Given the description of an element on the screen output the (x, y) to click on. 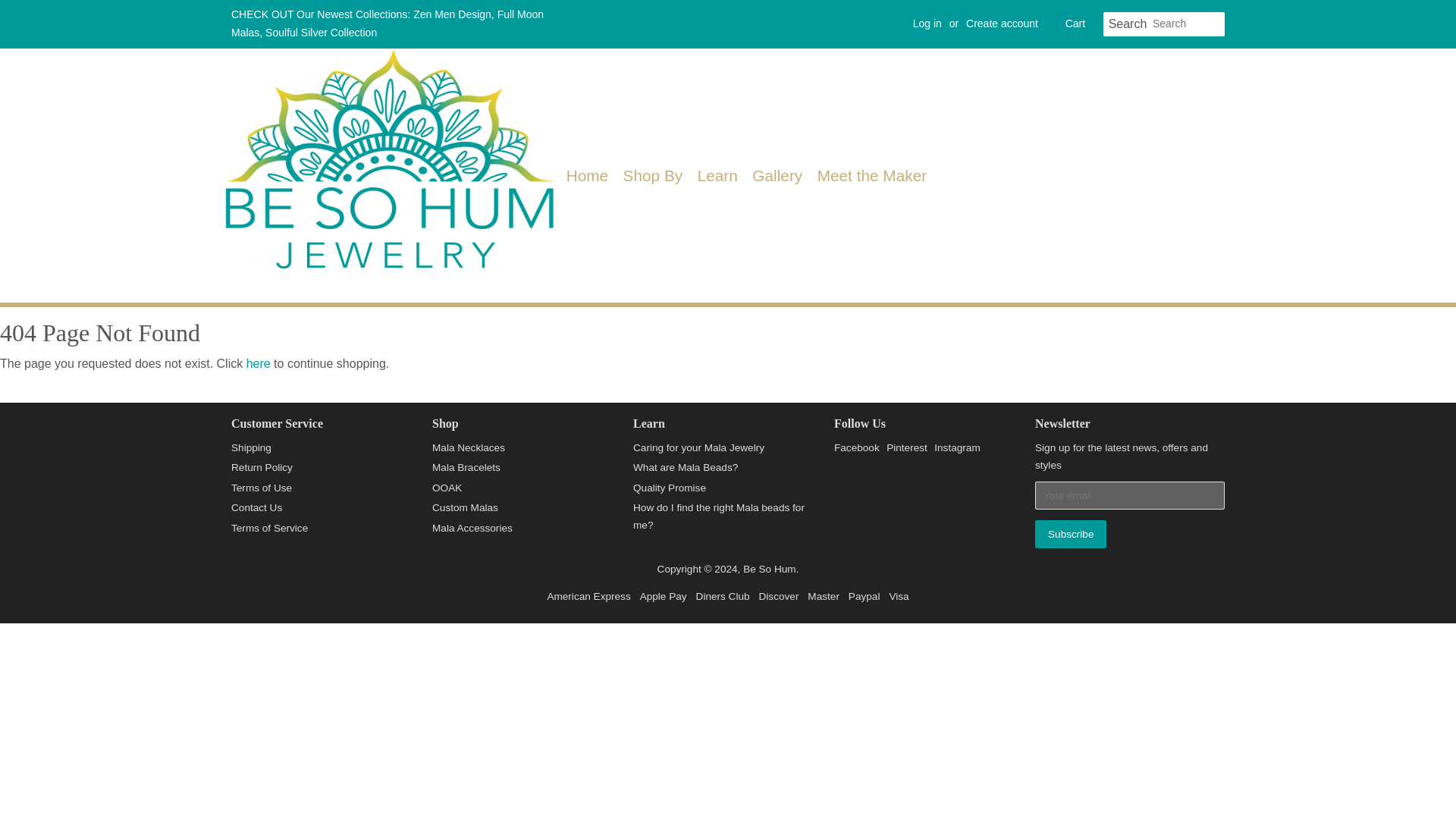
Be So Hum on Facebook (856, 447)
Create account (1002, 23)
Be So Hum on Instagram (956, 447)
Log in (927, 23)
Search (1127, 24)
Home (590, 175)
Be So Hum on Pinterest (906, 447)
Cart (1074, 24)
Shop By (652, 175)
Subscribe (1070, 533)
